Given the description of an element on the screen output the (x, y) to click on. 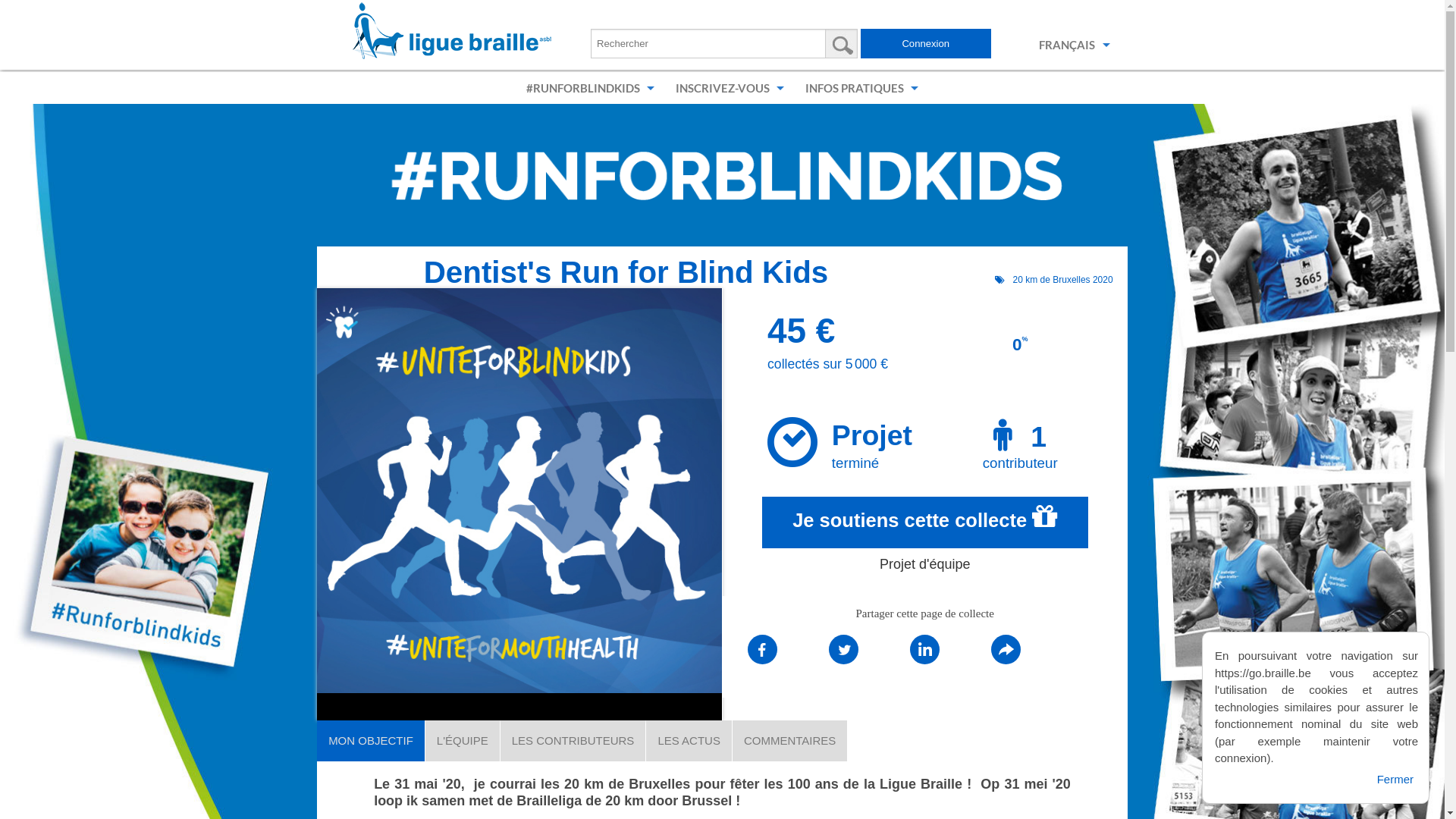
#RUNFORBLINDKIDS Element type: text (590, 87)
SPONSORING DES ENTREPRISES Element type: text (811, 279)
MON OBJECTIF Element type: text (370, 740)
INFOS PRATIQUES Element type: text (861, 87)
COUREUR EN OR Element type: text (811, 247)
COMMENT M'INSCRIRE ? Element type: text (811, 119)
20 KM DE BRUXELLES 2021 Element type: text (600, 184)
LES ACTUS Element type: text (688, 740)
LES CONTRIBUTEURS Element type: text (573, 740)
COMMENT COLLECTER ? Element type: text (811, 216)
Je soutiens cette collecte Element type: text (925, 522)
INSCRIPTION / PAGE DE COLLECTE Element type: text (811, 151)
COMMENT M'INSCRIRE ? Element type: text (894, 119)
Connexion Element type: text (925, 43)
20 KM DE BRUXELLES 2022 Element type: text (600, 151)
10 RAISONS DE COURIR POUR LA LIGUE BRAILLE Element type: text (811, 184)
GUIDER UN COUREUR AVEUGLE Element type: text (894, 184)
INSCRIVEZ-VOUS Element type: text (729, 87)
20 km de Bruxelles 2020 Element type: text (1053, 279)
20 KM DE BRUXELLES 2023 Element type: text (600, 119)
COMMENTAIRES Element type: text (789, 740)
NOS PROJETS POUR LES ENFANTS Element type: text (811, 311)
NEDERLANDS Element type: text (1064, 76)
